Given the description of an element on the screen output the (x, y) to click on. 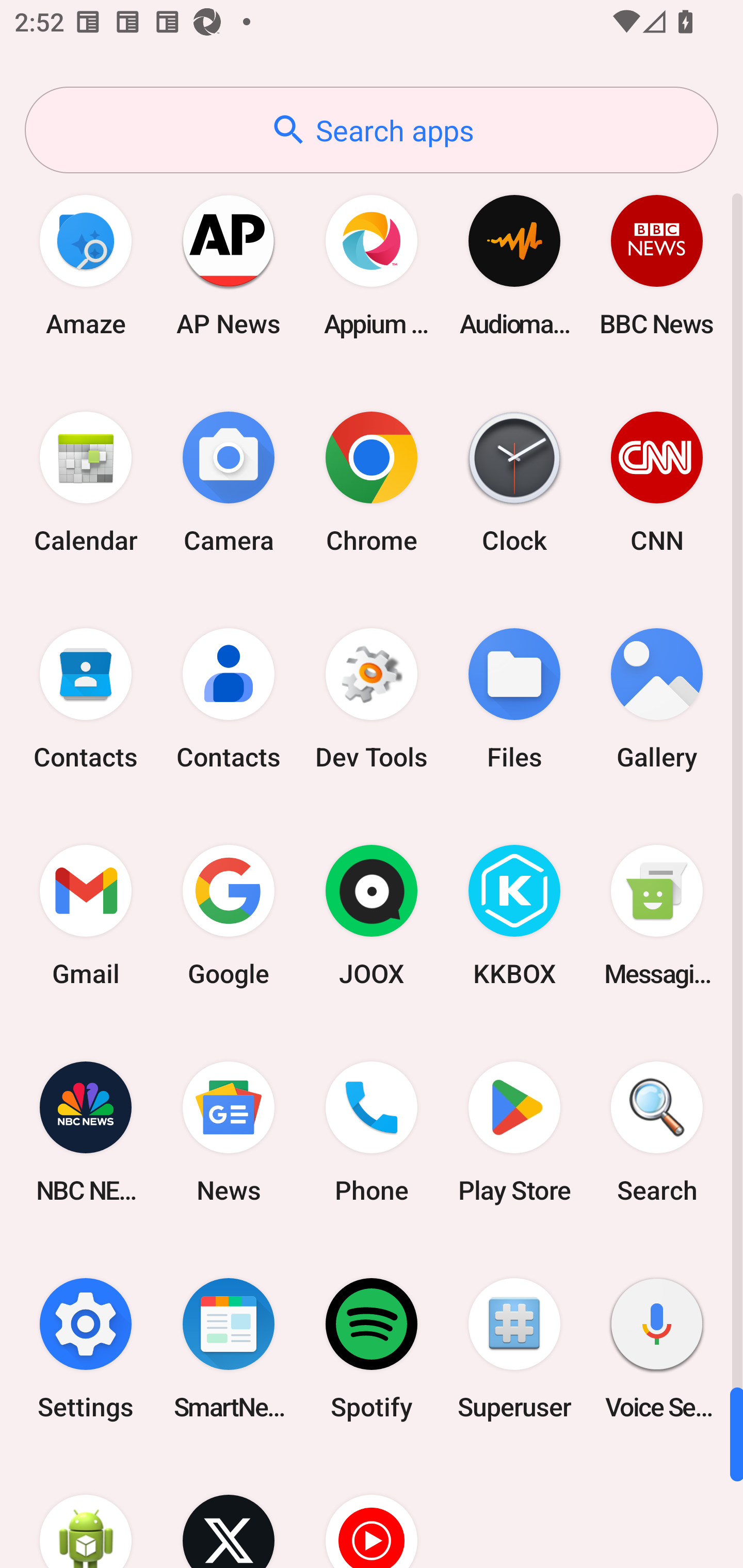
  Search apps (371, 130)
Amaze (85, 264)
AP News (228, 264)
Appium Settings (371, 264)
Audio­mack (514, 264)
BBC News (656, 264)
Calendar (85, 482)
Camera (228, 482)
Chrome (371, 482)
Clock (514, 482)
CNN (656, 482)
Contacts (85, 699)
Contacts (228, 699)
Dev Tools (371, 699)
Files (514, 699)
Gallery (656, 699)
Gmail (85, 915)
Google (228, 915)
JOOX (371, 915)
KKBOX (514, 915)
Messaging (656, 915)
NBC NEWS (85, 1131)
News (228, 1131)
Phone (371, 1131)
Play Store (514, 1131)
Search (656, 1131)
Settings (85, 1348)
SmartNews (228, 1348)
Spotify (371, 1348)
Superuser (514, 1348)
Voice Search (656, 1348)
WebView Browser Tester (85, 1512)
X (228, 1512)
YT Music (371, 1512)
